Given the description of an element on the screen output the (x, y) to click on. 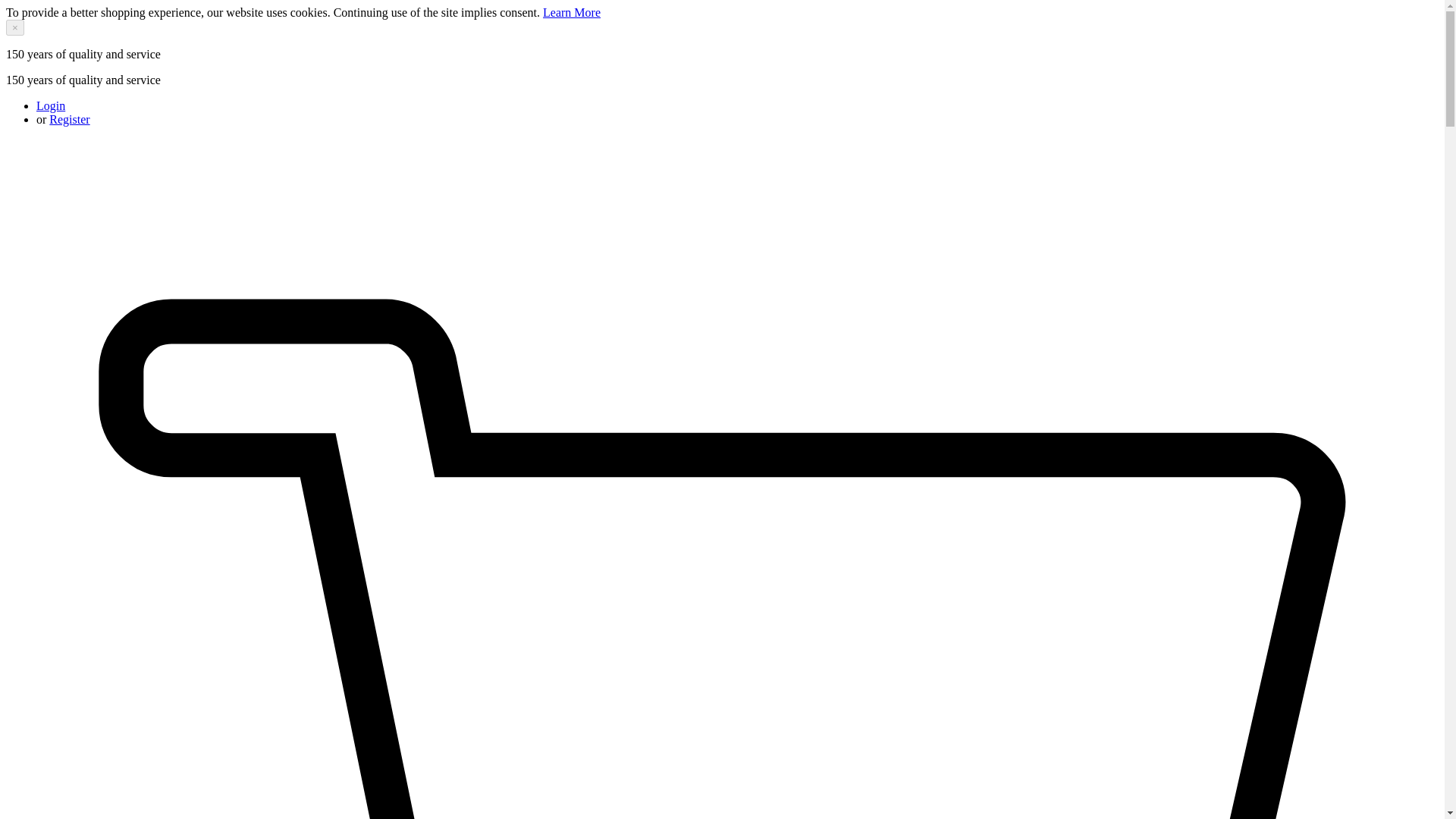
Learn More (571, 11)
Register (68, 119)
Login (50, 105)
